Given the description of an element on the screen output the (x, y) to click on. 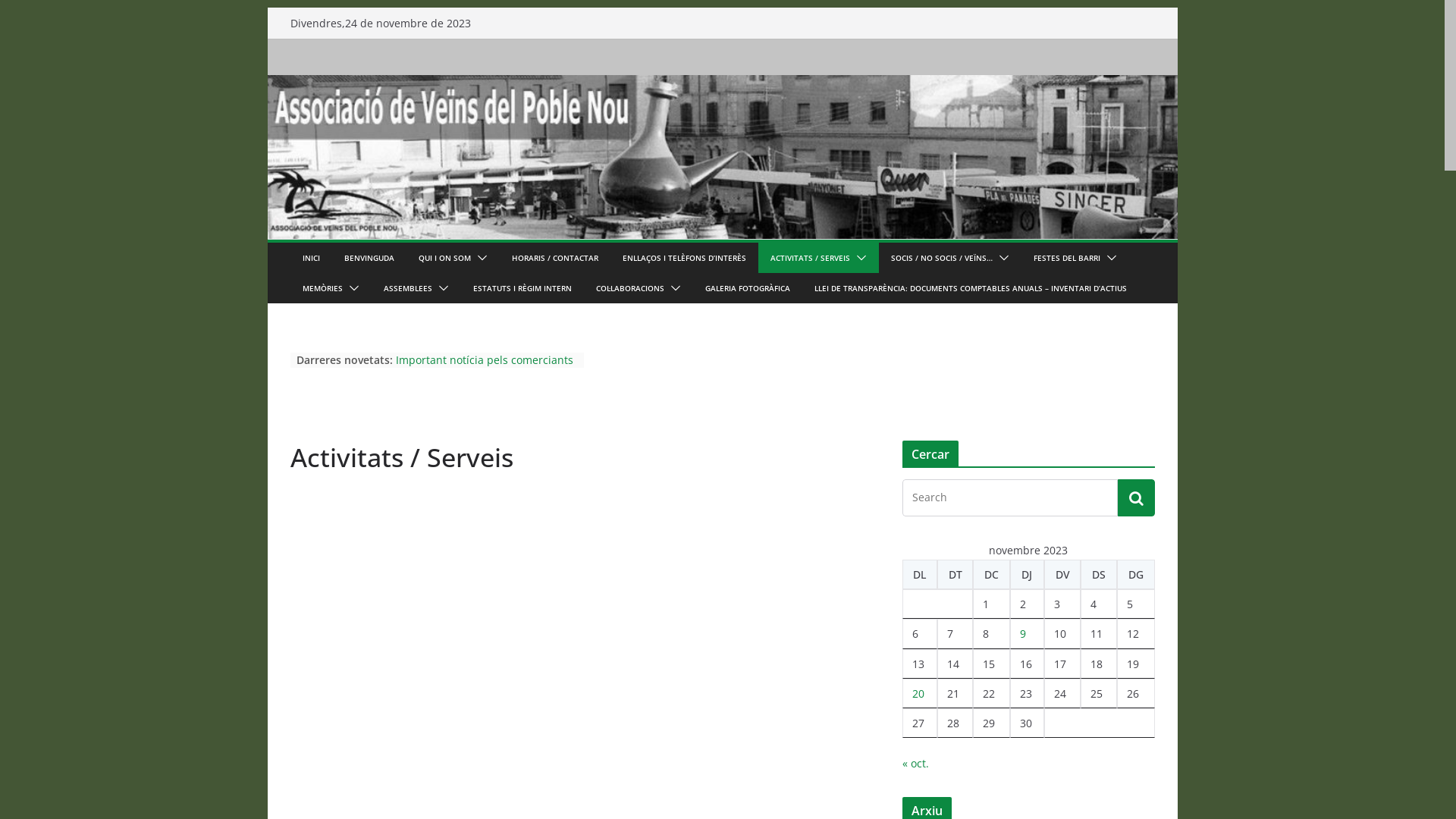
FESTES DEL BARRI Element type: text (1065, 257)
20 Element type: text (917, 693)
BENVINGUDA Element type: text (369, 257)
INICI Element type: text (310, 257)
ASSEMBLEES Element type: text (407, 287)
ACTIVITATS / SERVEIS Element type: text (810, 257)
HORARIS / CONTACTAR Element type: text (554, 257)
9 Element type: text (1022, 633)
Skip to content Element type: text (266, 6)
QUI I ON SOM Element type: text (444, 257)
